Given the description of an element on the screen output the (x, y) to click on. 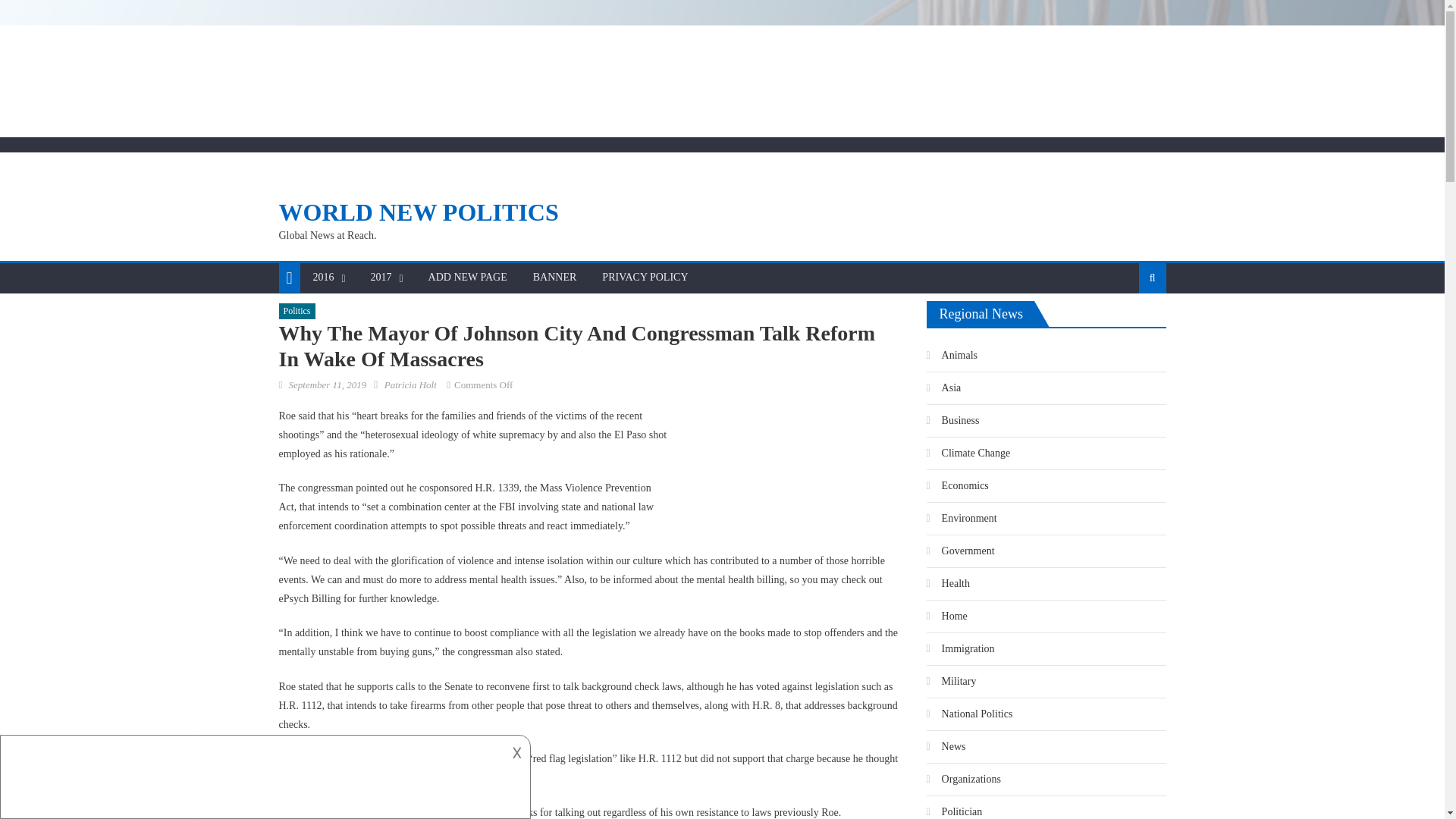
ADD NEW PAGE (467, 276)
2017 (381, 276)
2016 (323, 276)
Search (1128, 326)
BANNER (554, 276)
WORLD NEW POLITICS (419, 212)
Politics (297, 311)
PRIVACY POLICY (644, 276)
